Given the description of an element on the screen output the (x, y) to click on. 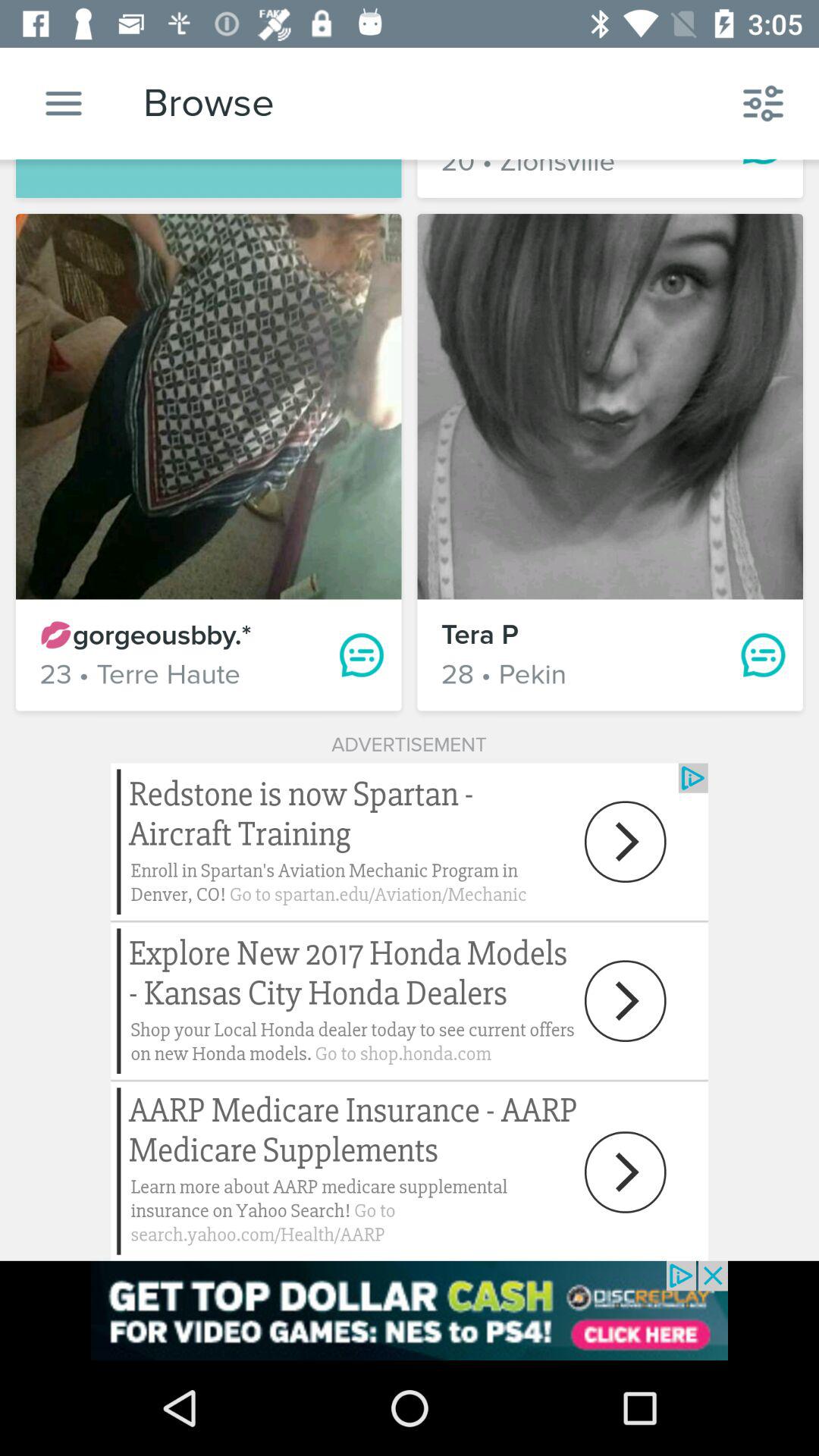
option (63, 103)
